Given the description of an element on the screen output the (x, y) to click on. 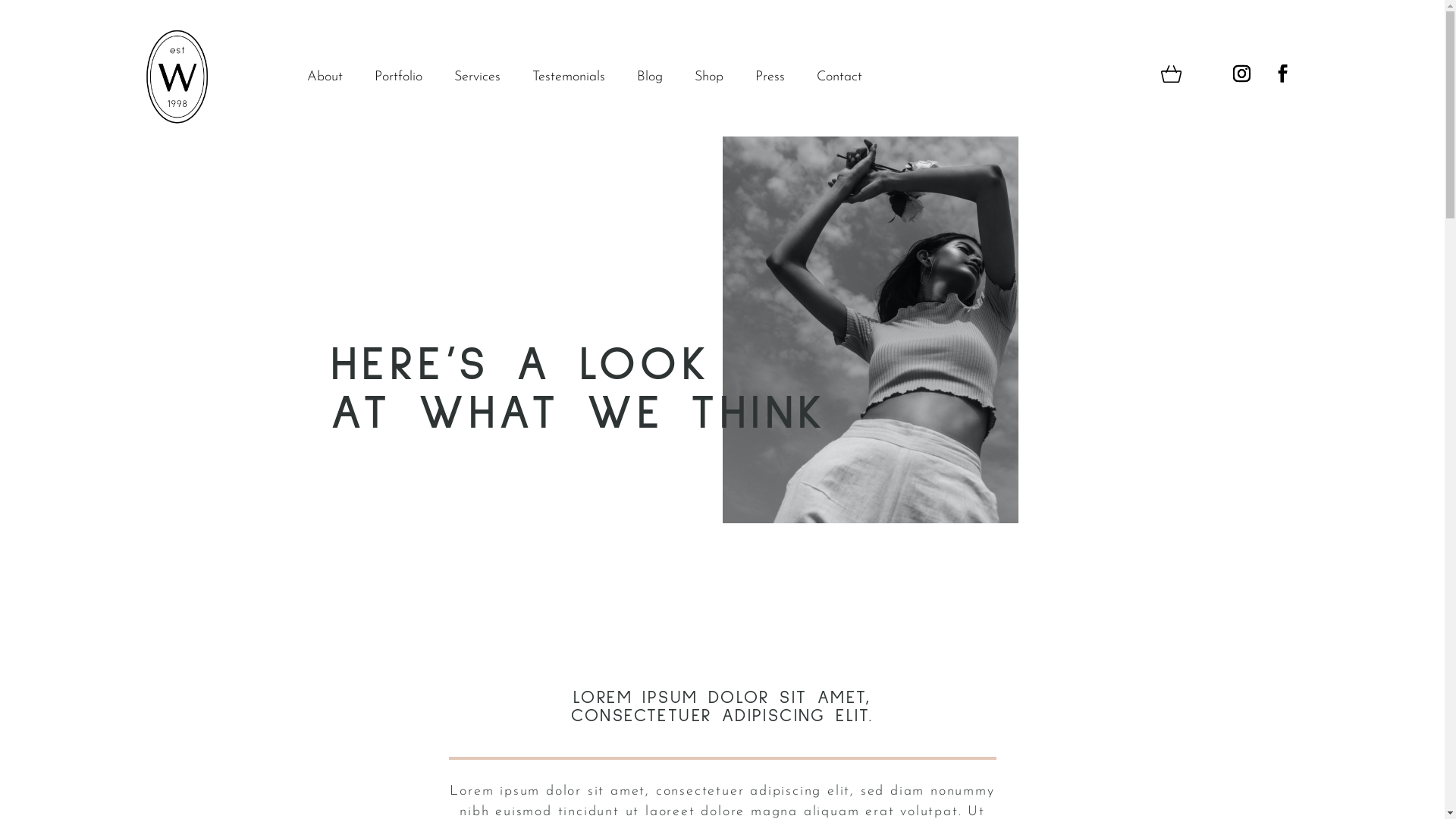
Rectangle 101 Element type: hover (869, 329)
Contact Element type: text (846, 79)
Blog Element type: text (657, 79)
About Element type: text (332, 79)
Services Element type: text (484, 79)
Logo_Prancheta 1 Element type: hover (176, 76)
Press Element type: text (777, 79)
Portfolio Element type: text (405, 79)
Shop Element type: text (716, 79)
Testemonials Element type: text (576, 79)
Follow on Facebook Element type: hover (1281, 73)
Follow on Instagram Element type: hover (1240, 73)
